Given the description of an element on the screen output the (x, y) to click on. 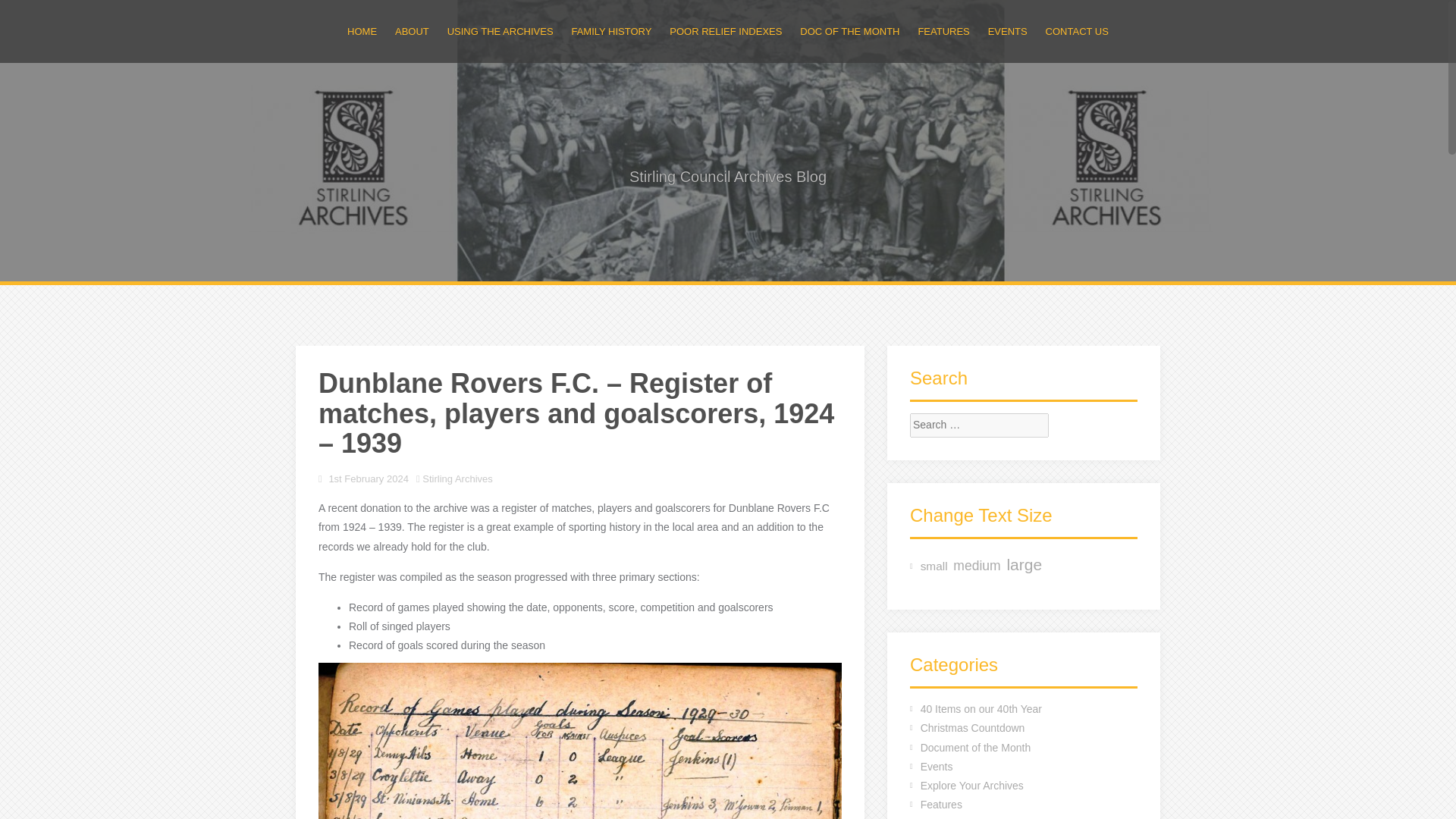
POOR RELIEF INDEXES (725, 31)
Search (24, 11)
FEATURES (943, 31)
CONTACT US (1076, 31)
ABOUT (411, 31)
small (933, 565)
EVENTS (1007, 31)
USING THE ARCHIVES (499, 31)
HOME (362, 31)
